Given the description of an element on the screen output the (x, y) to click on. 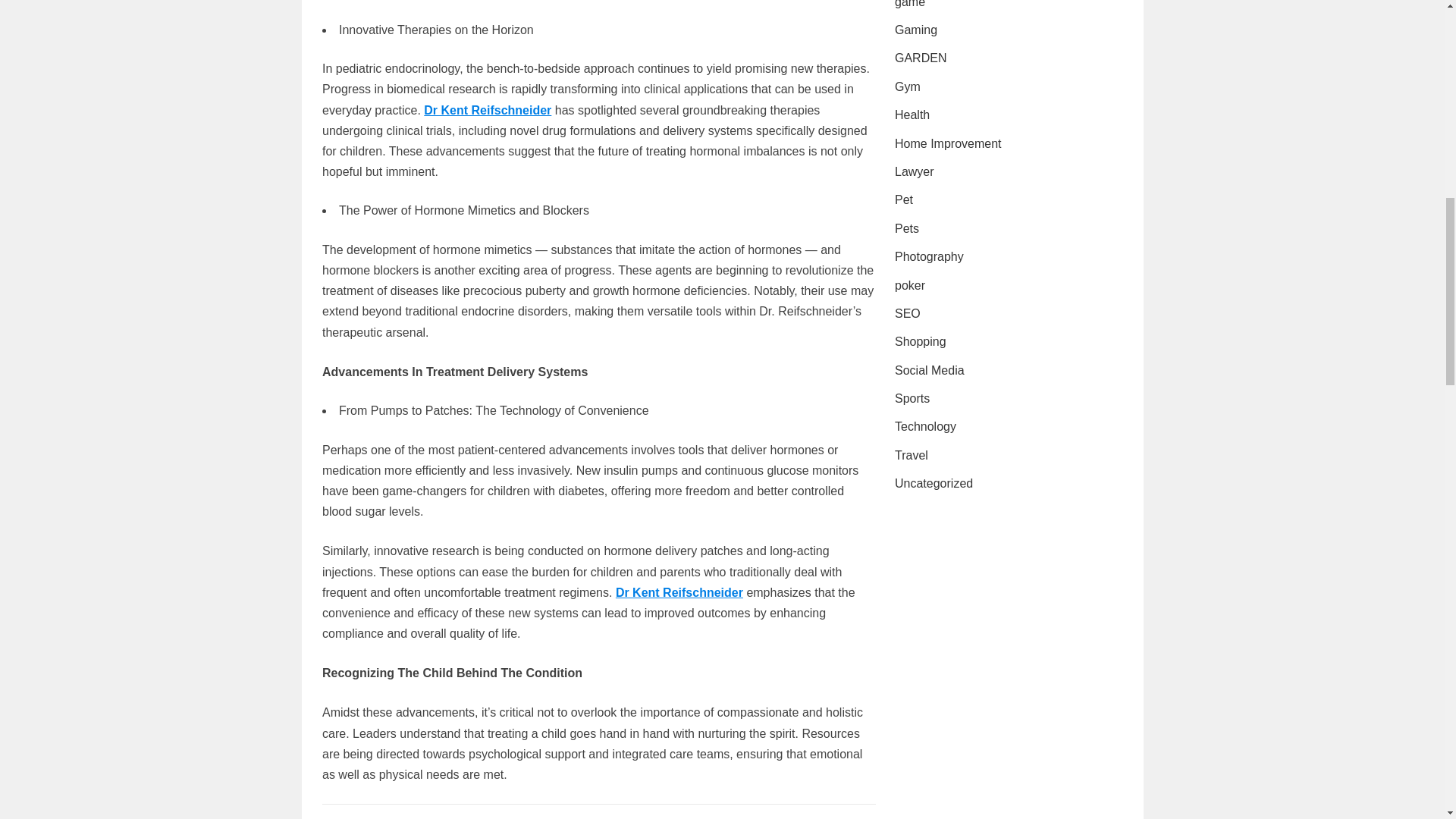
Dr Kent Reifschneider (487, 109)
Dr Kent Reifschneider (678, 592)
